Given the description of an element on the screen output the (x, y) to click on. 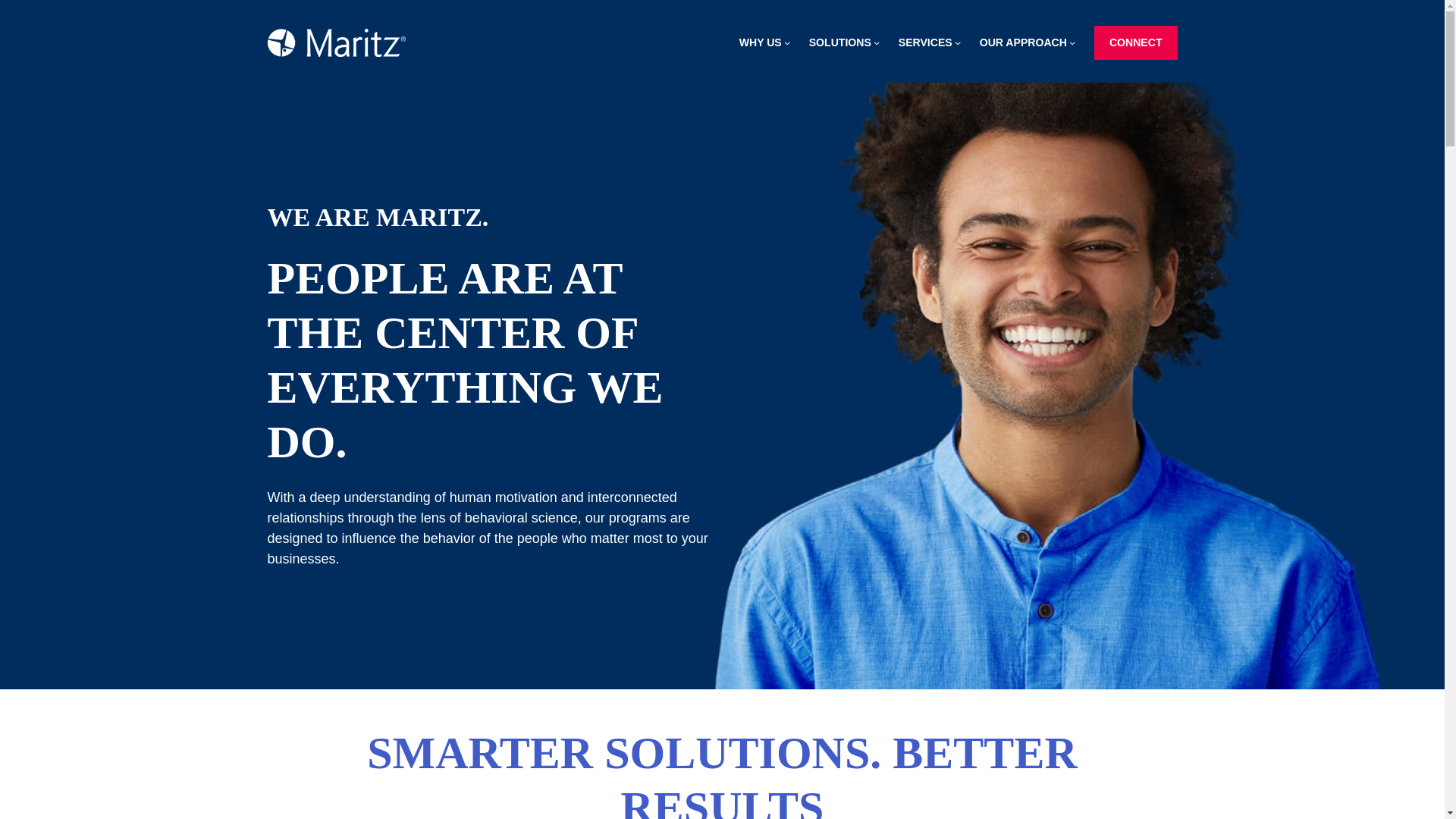
SOLUTIONS (839, 42)
WHY US (760, 42)
OUR APPROACH (1023, 42)
SERVICES (925, 42)
CONNECT (1135, 42)
